Given the description of an element on the screen output the (x, y) to click on. 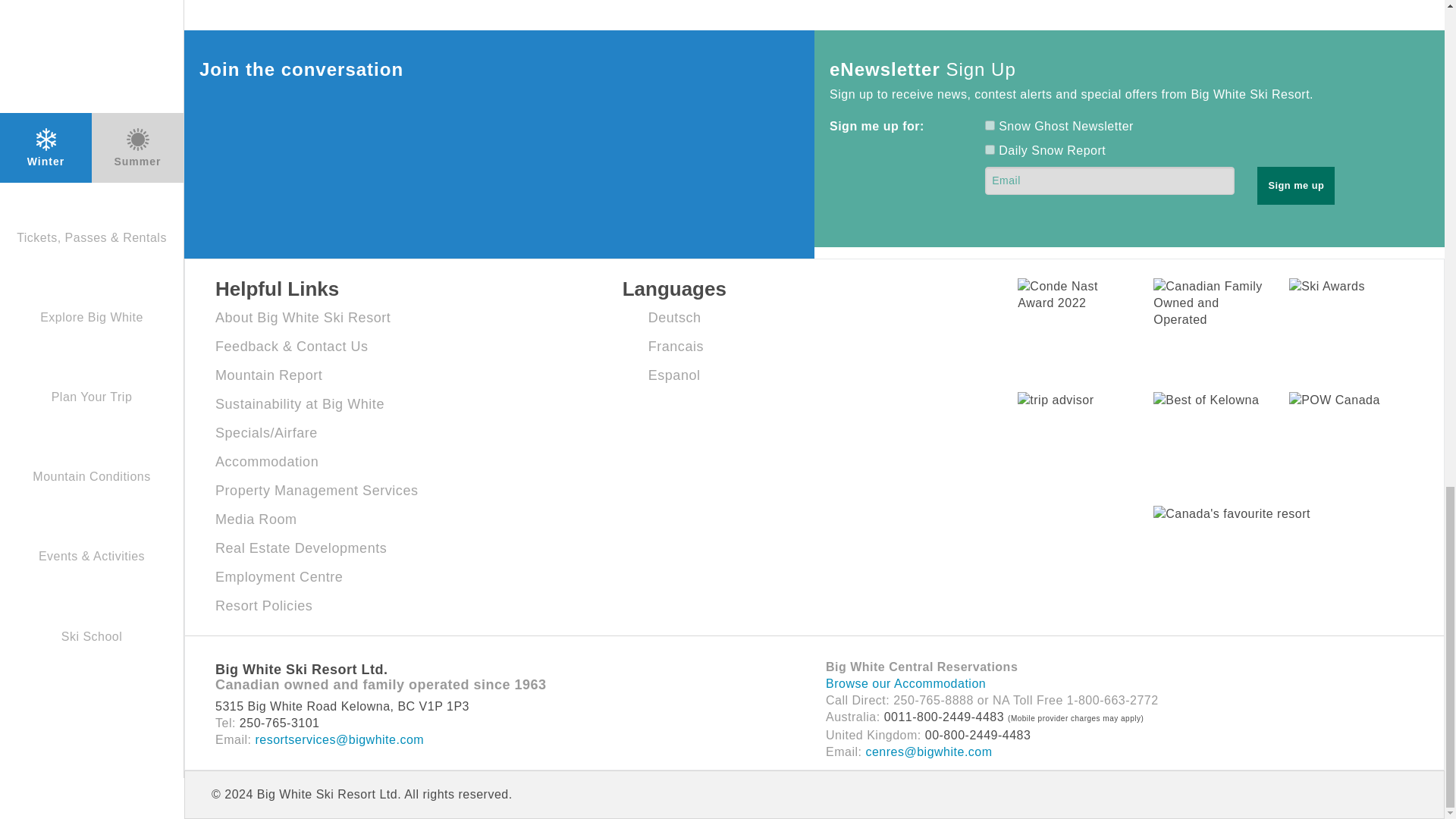
on (989, 149)
on (989, 125)
List your unit with Central Reservations (317, 490)
